Given the description of an element on the screen output the (x, y) to click on. 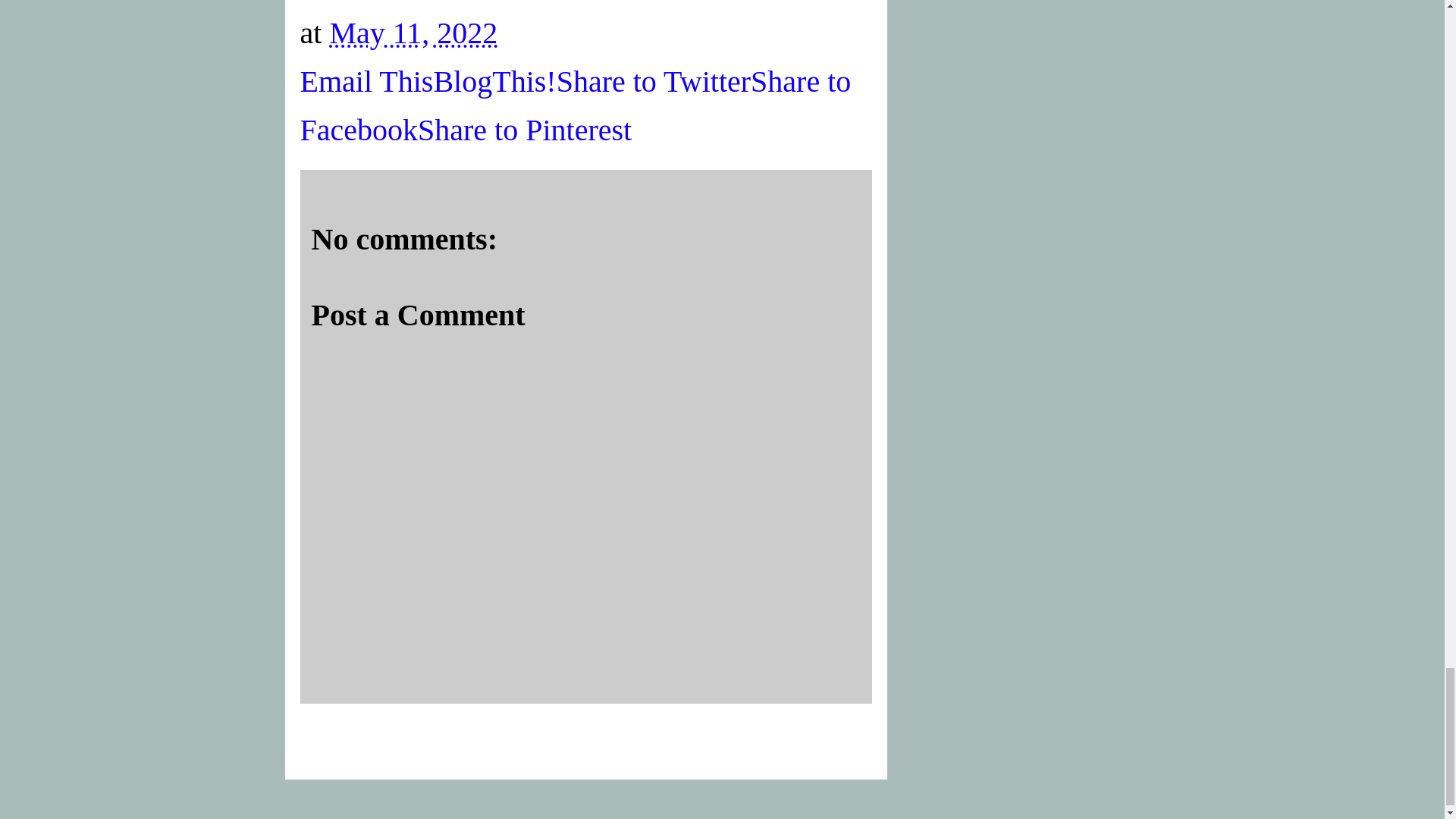
permanent link (413, 32)
Email This (366, 81)
Share to Twitter (653, 81)
Email This (366, 81)
Share to Twitter (653, 81)
Share to Pinterest (524, 130)
Share to Pinterest (524, 130)
BlogThis! (494, 81)
May 11, 2022 (413, 32)
BlogThis! (494, 81)
